Given the description of an element on the screen output the (x, y) to click on. 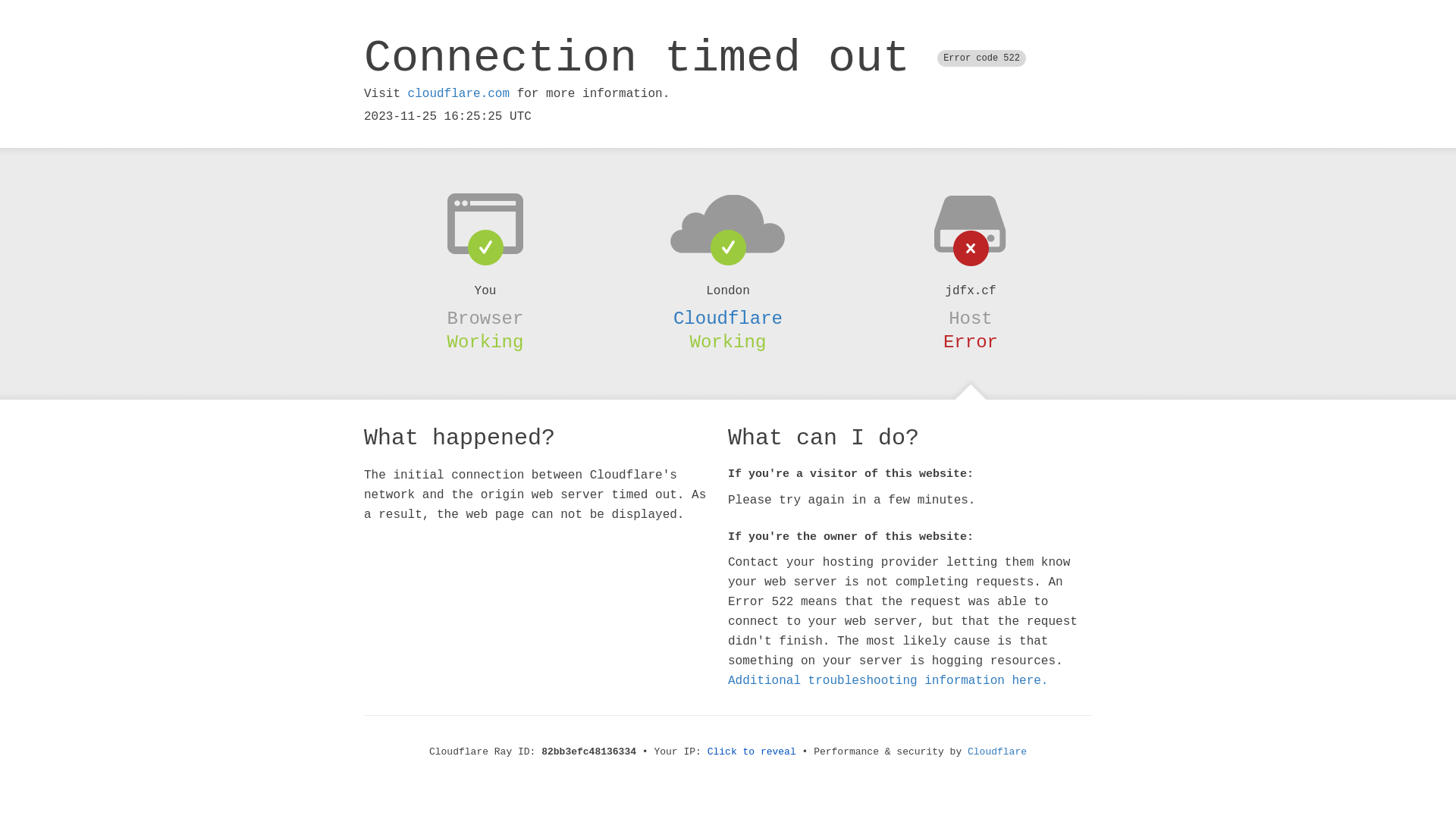
Click to reveal Element type: text (751, 751)
cloudflare.com Element type: text (458, 93)
Cloudflare Element type: text (727, 318)
Additional troubleshooting information here. Element type: text (888, 680)
Cloudflare Element type: text (996, 751)
